Given the description of an element on the screen output the (x, y) to click on. 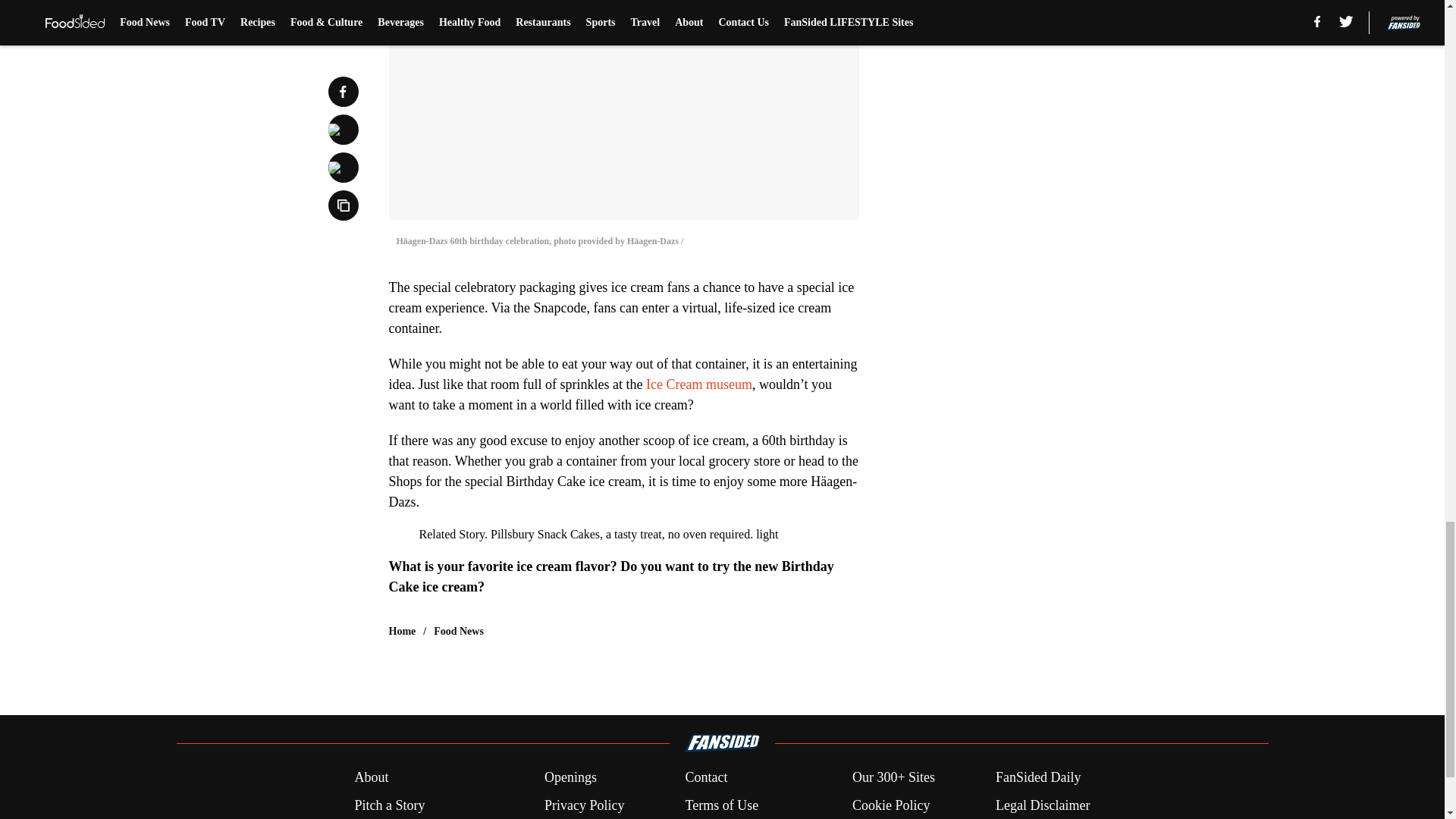
Contact (705, 777)
Openings (570, 777)
Cookie Policy (890, 805)
About (370, 777)
Food News (458, 631)
Privacy Policy (584, 805)
Terms of Use (721, 805)
Pitch a Story (389, 805)
Legal Disclaimer (1042, 805)
Home (401, 631)
